Given the description of an element on the screen output the (x, y) to click on. 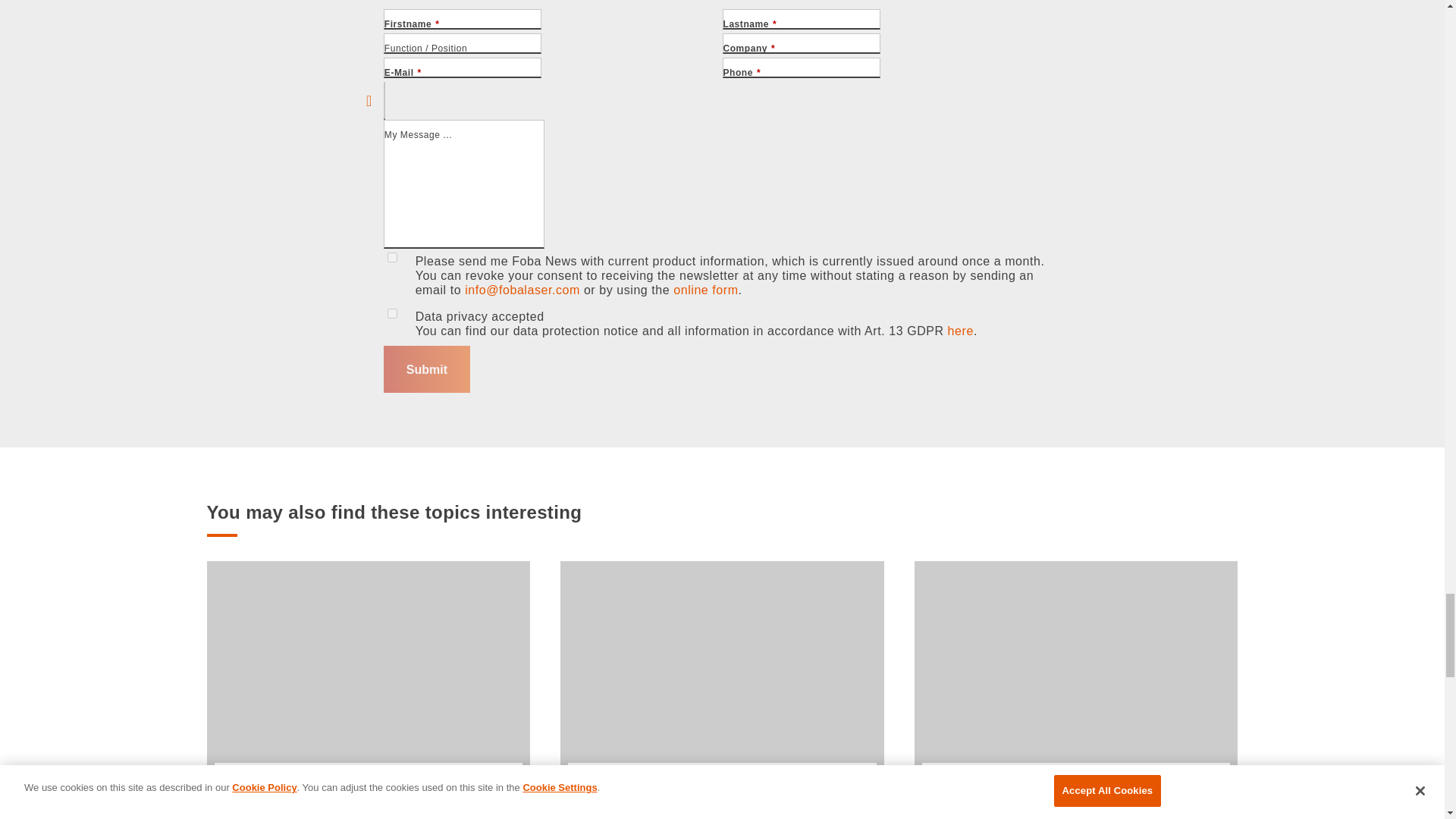
yes (392, 257)
yes (392, 312)
